Given the description of an element on the screen output the (x, y) to click on. 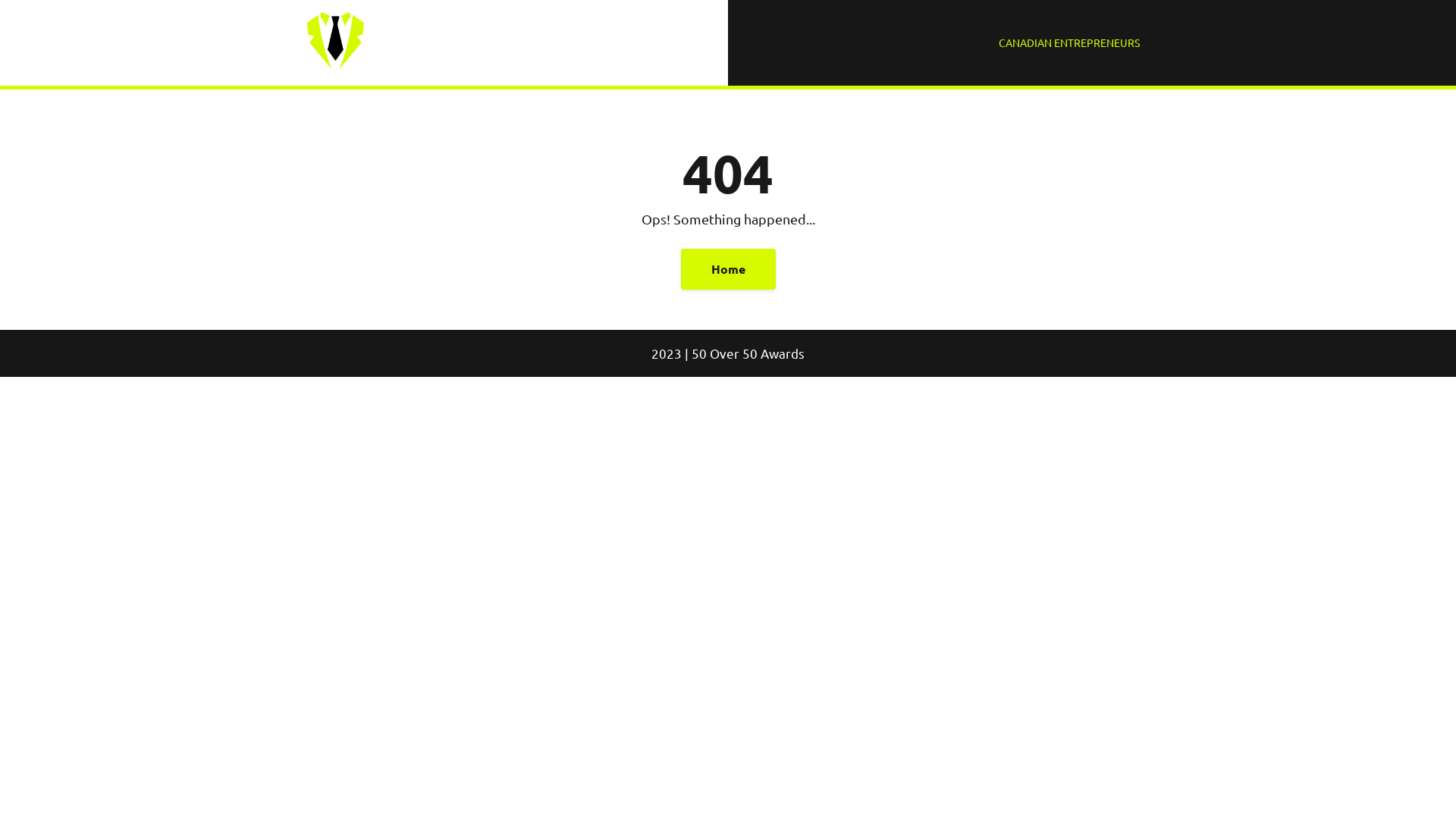
Home Element type: text (727, 268)
CANADIAN ENTREPRENEURS Element type: text (1068, 42)
